Given the description of an element on the screen output the (x, y) to click on. 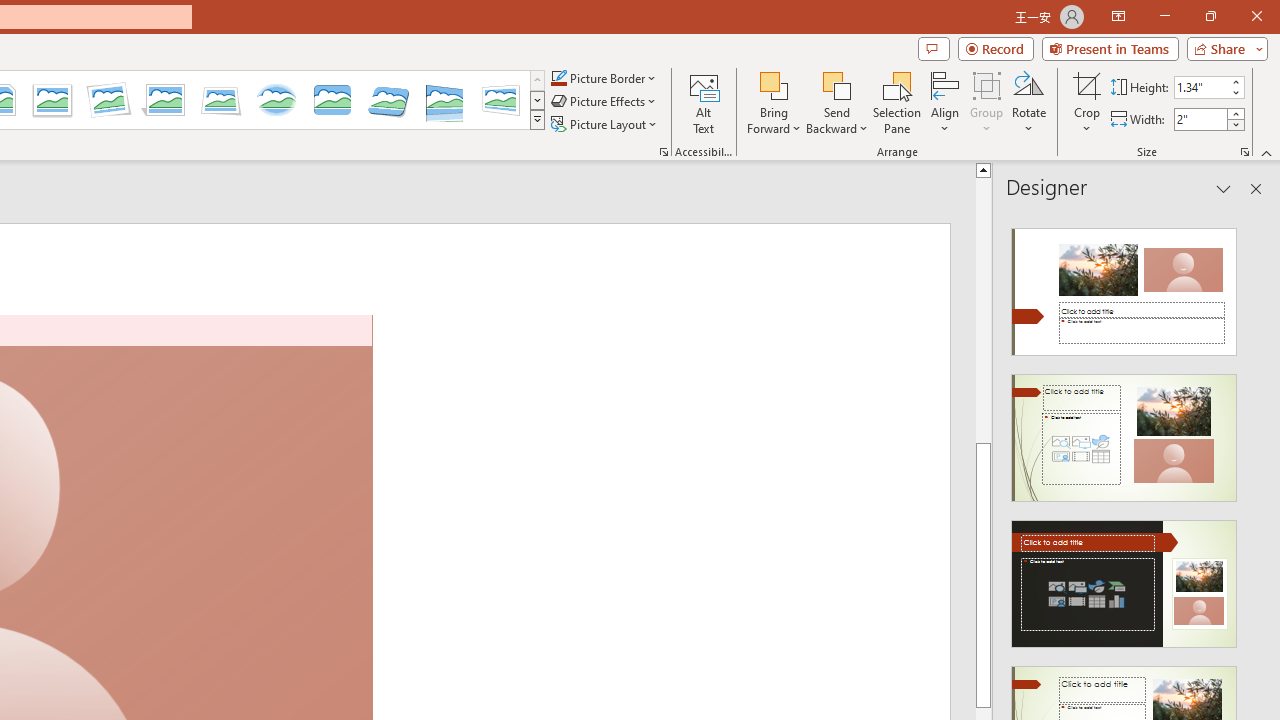
Bevel Perspective Left, White (500, 100)
Picture Border Teal, Accent 1 (558, 78)
Send Backward (836, 102)
Quick Styles (537, 120)
Picture Border (603, 78)
Crop (1087, 84)
Send Backward (836, 84)
Perspective Shadow, White (164, 100)
Crop (1087, 102)
Align (945, 102)
